Given the description of an element on the screen output the (x, y) to click on. 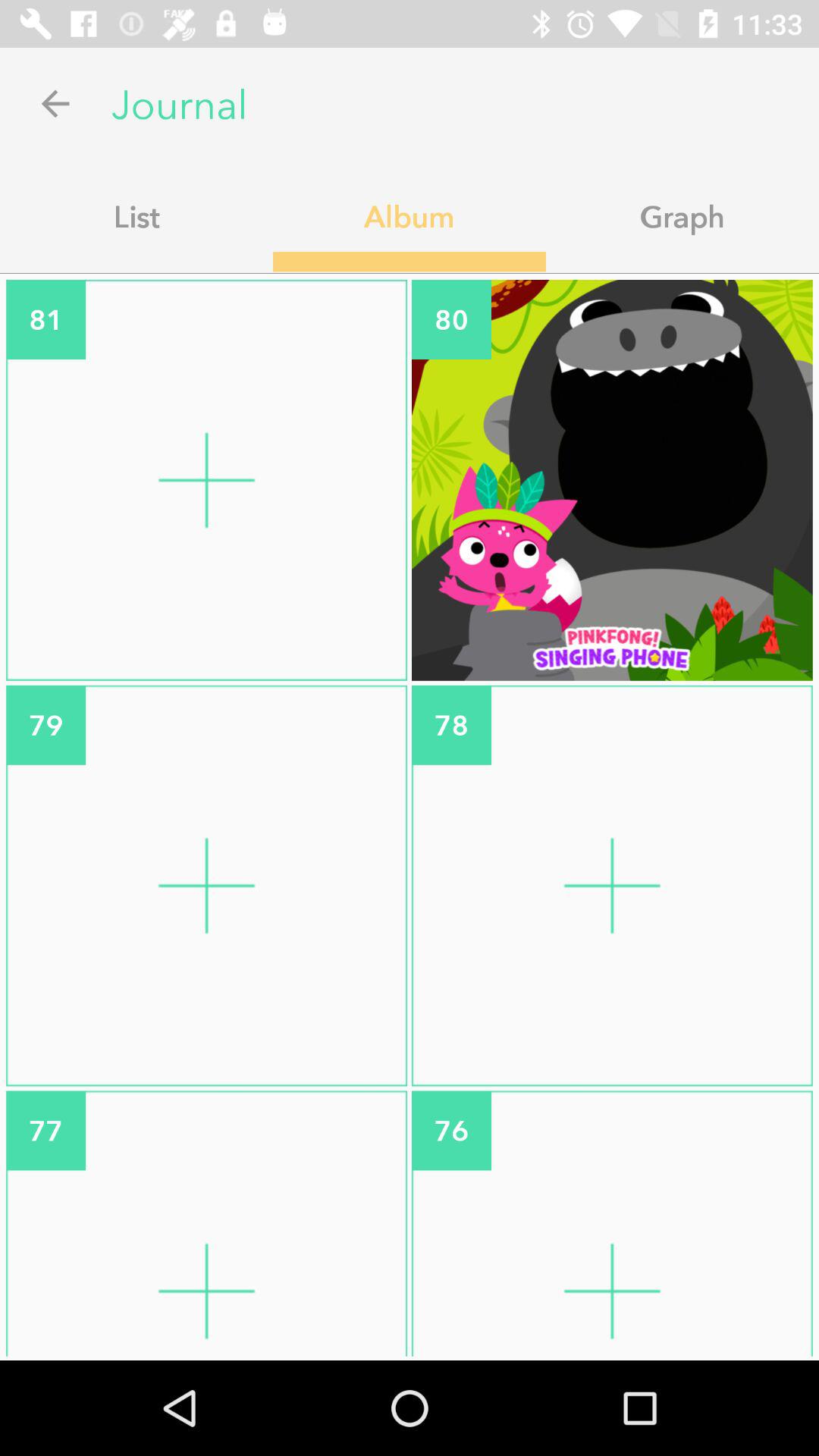
select list icon (136, 216)
